Given the description of an element on the screen output the (x, y) to click on. 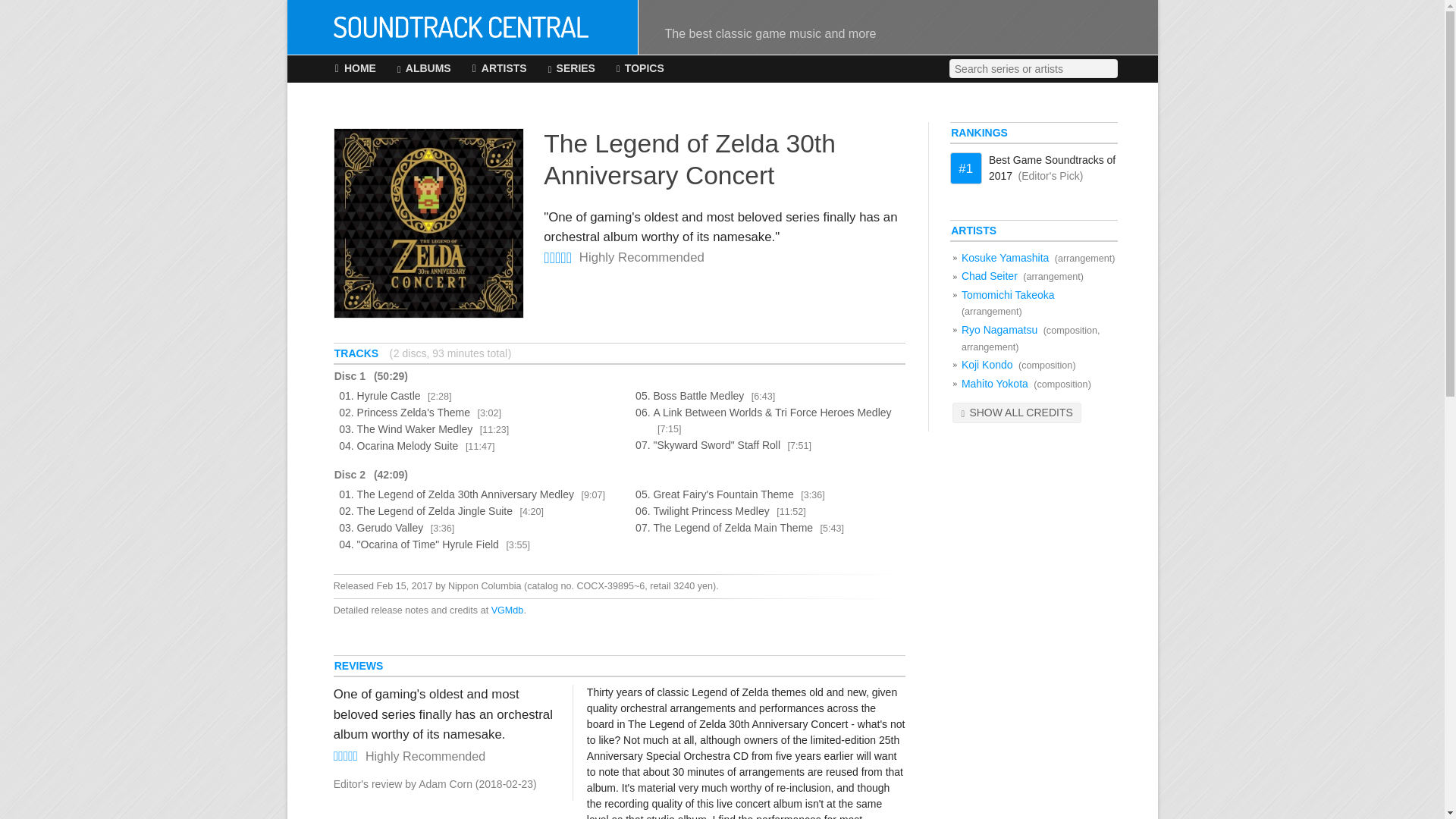
SERIES (571, 68)
HOME (354, 68)
TOPICS (639, 68)
ALBUMS (424, 68)
ARTISTS (499, 68)
